Given the description of an element on the screen output the (x, y) to click on. 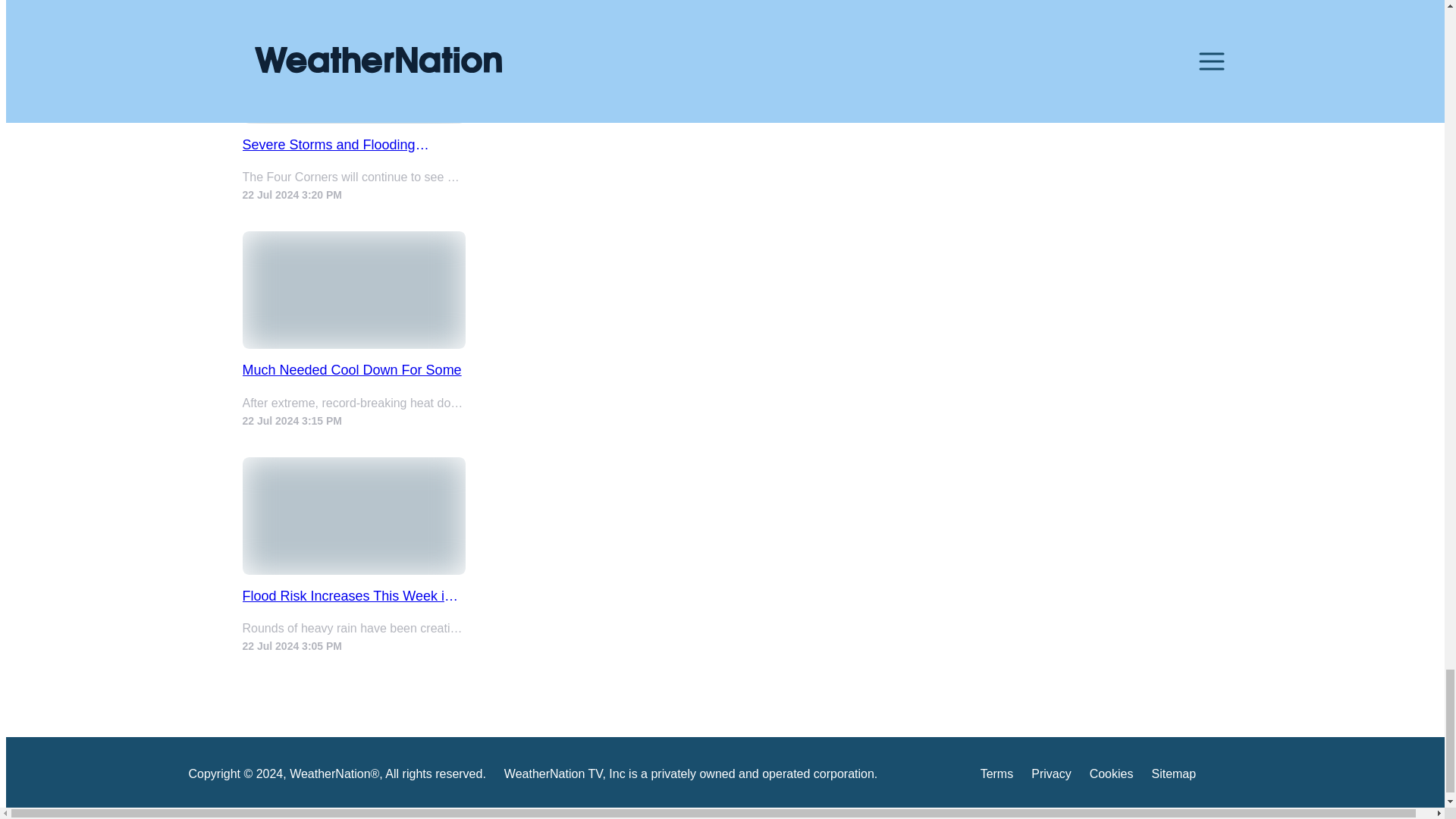
Severe Storms and Flooding Possible Around the Four Corners (354, 145)
Much Needed Cool Down For Some (354, 370)
Privacy (1050, 776)
Terms (996, 776)
Sitemap (1173, 776)
Cookies (1111, 776)
